Given the description of an element on the screen output the (x, y) to click on. 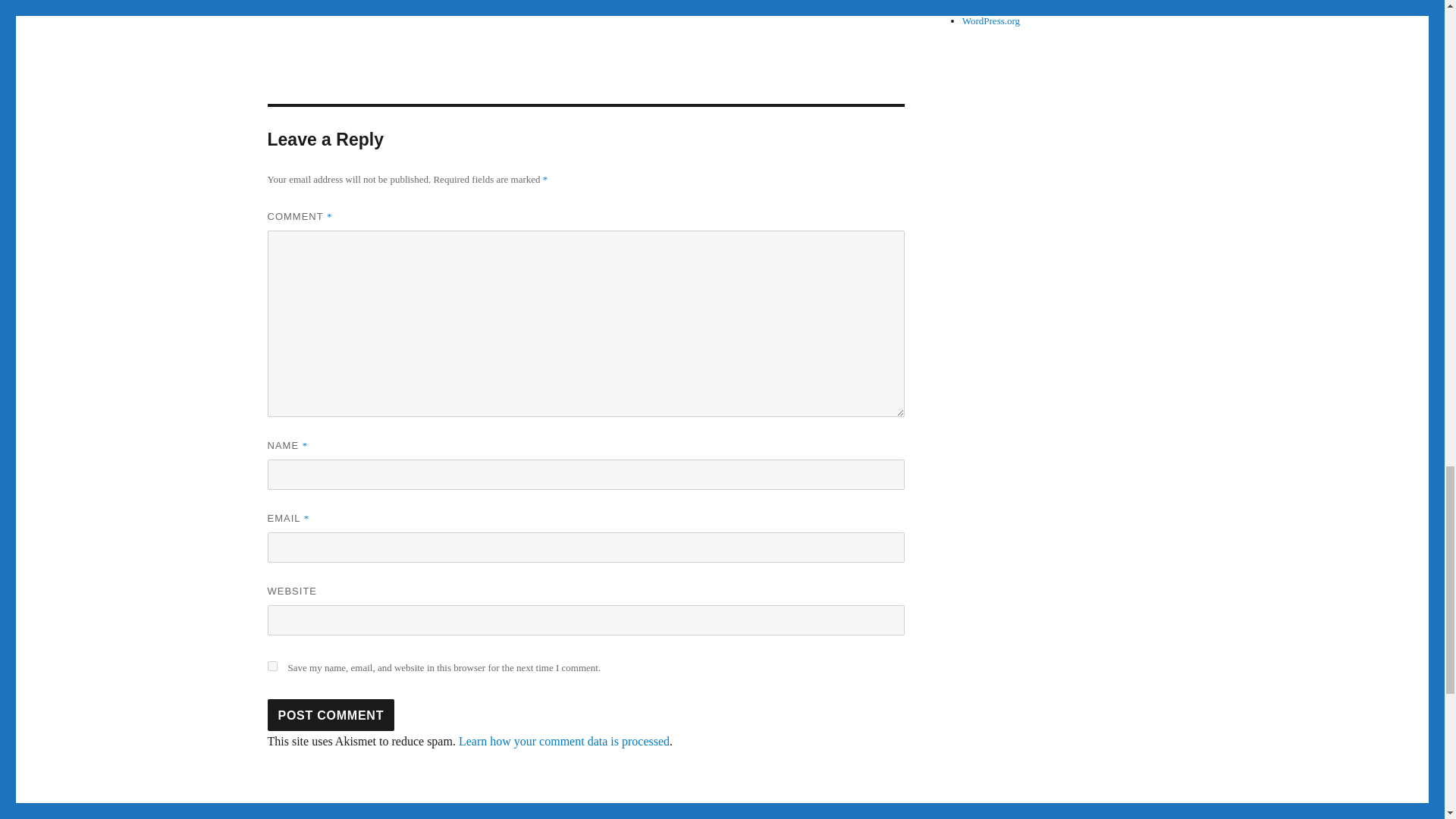
Learn how your comment data is processed (563, 740)
yes (271, 665)
Post Comment (330, 715)
Post Comment (330, 715)
